Given the description of an element on the screen output the (x, y) to click on. 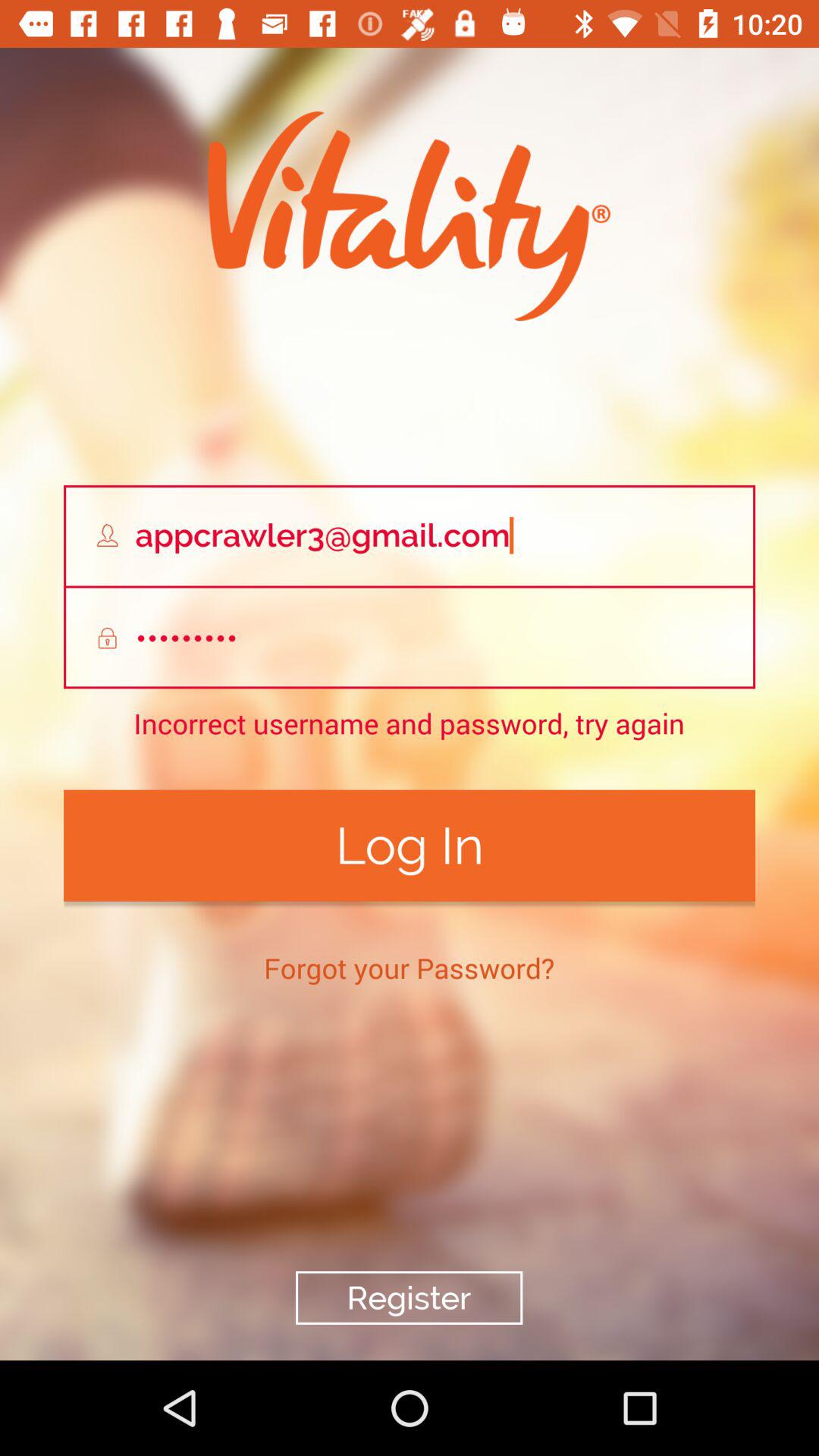
scroll until the crowd3116 item (409, 638)
